Given the description of an element on the screen output the (x, y) to click on. 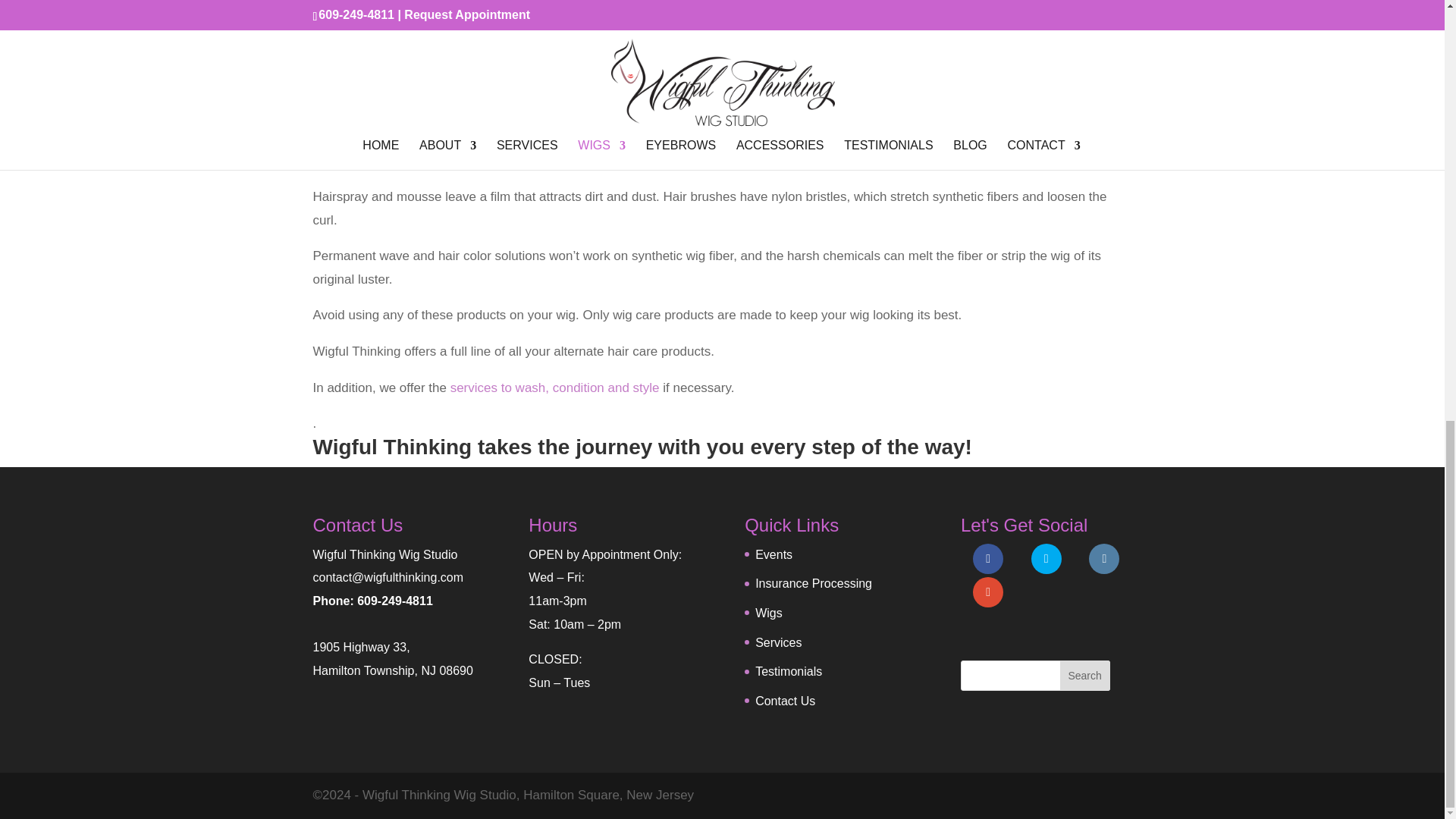
millinery items (673, 47)
wig care products (517, 114)
Search (1084, 675)
609-249-4811 (394, 600)
Insurance Processing (813, 583)
services to wash, condition and style (554, 387)
Events (773, 554)
Testimonials (788, 671)
1905 Highway 33, (361, 646)
Wigs (769, 612)
Services (778, 642)
